Given the description of an element on the screen output the (x, y) to click on. 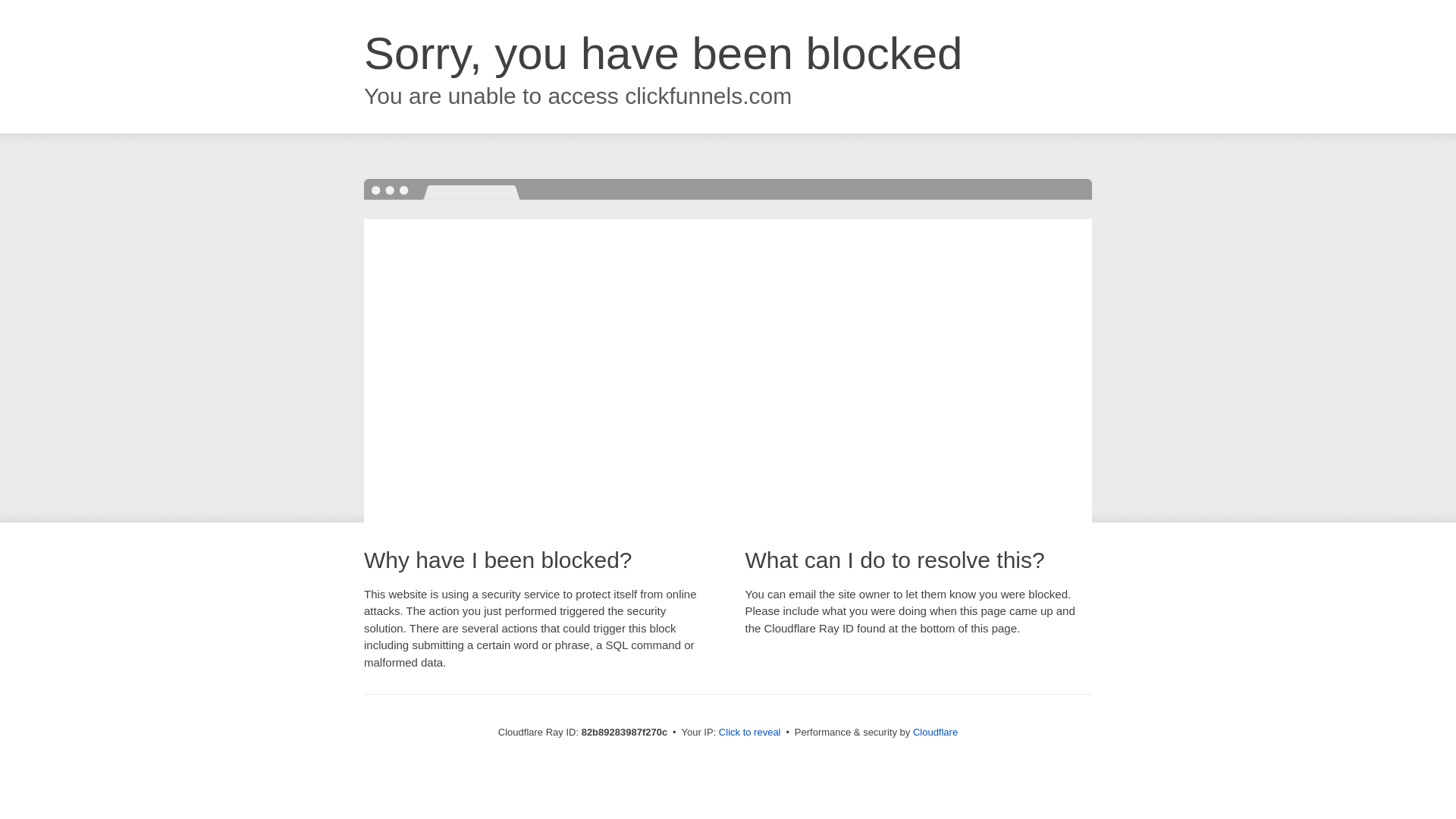
Cloudflare Element type: text (935, 731)
Click to reveal Element type: text (749, 732)
